Given the description of an element on the screen output the (x, y) to click on. 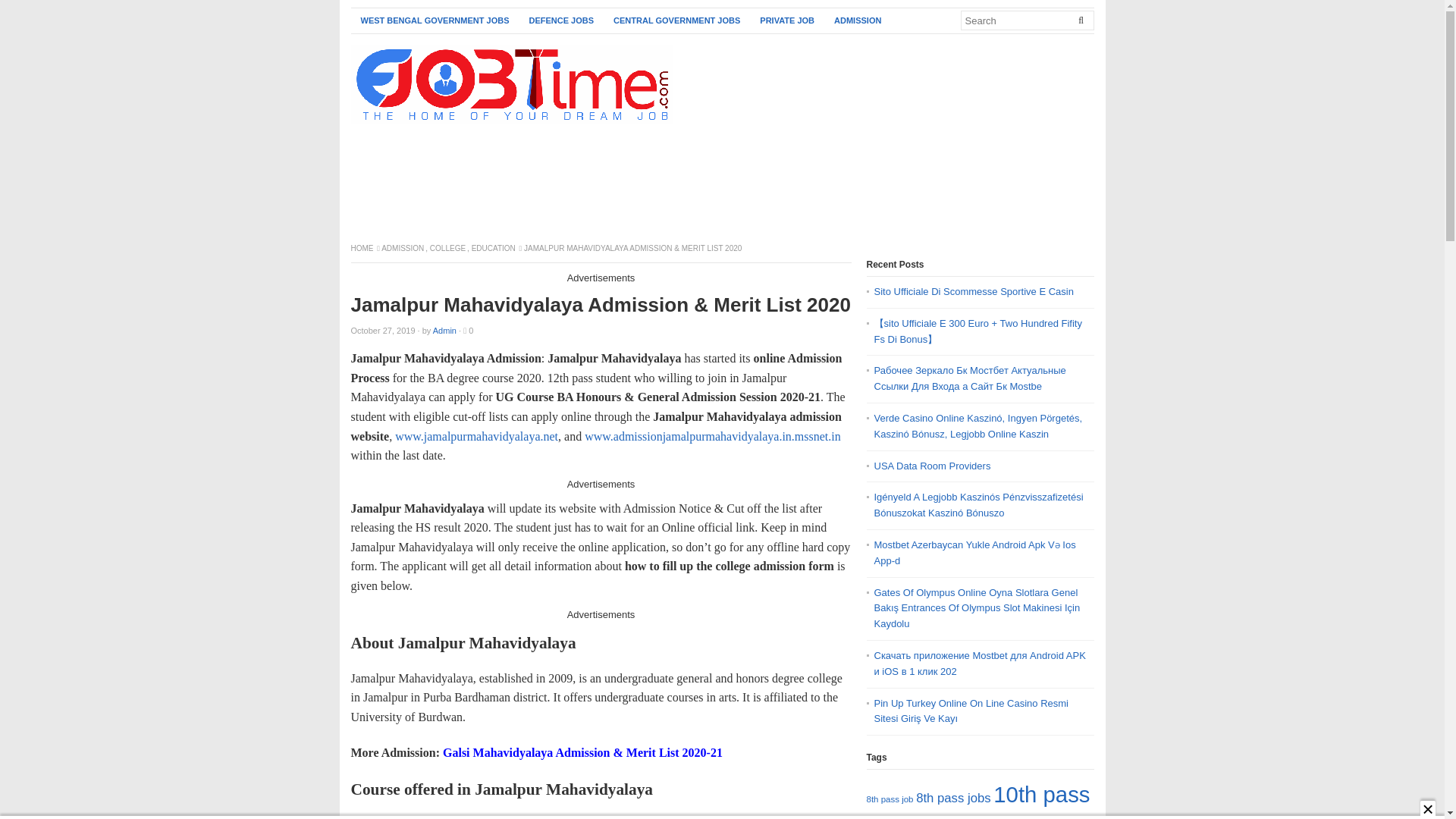
DEFENCE JOBS (561, 20)
ADMISSION (857, 20)
www.admissionjamalpurmahavidyalaya.in.mssnet.in (713, 436)
WEST BENGAL GOVERNMENT JOBS (434, 20)
CENTRAL GOVERNMENT JOBS (676, 20)
EDUCATION (493, 248)
Admin (444, 329)
PRIVATE JOB (786, 20)
ADMISSION (403, 248)
HOME (362, 248)
